Given the description of an element on the screen output the (x, y) to click on. 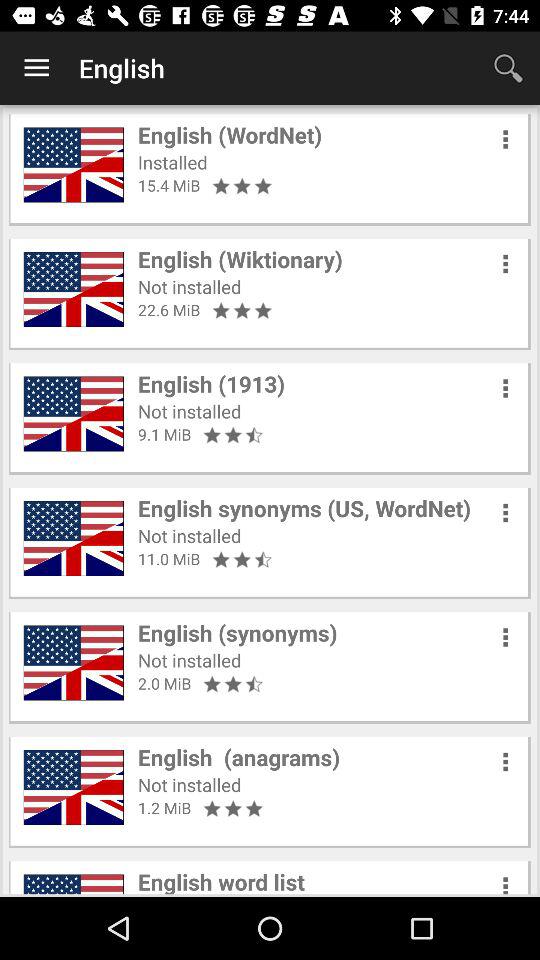
turn off the icon above the not installed (240, 259)
